Given the description of an element on the screen output the (x, y) to click on. 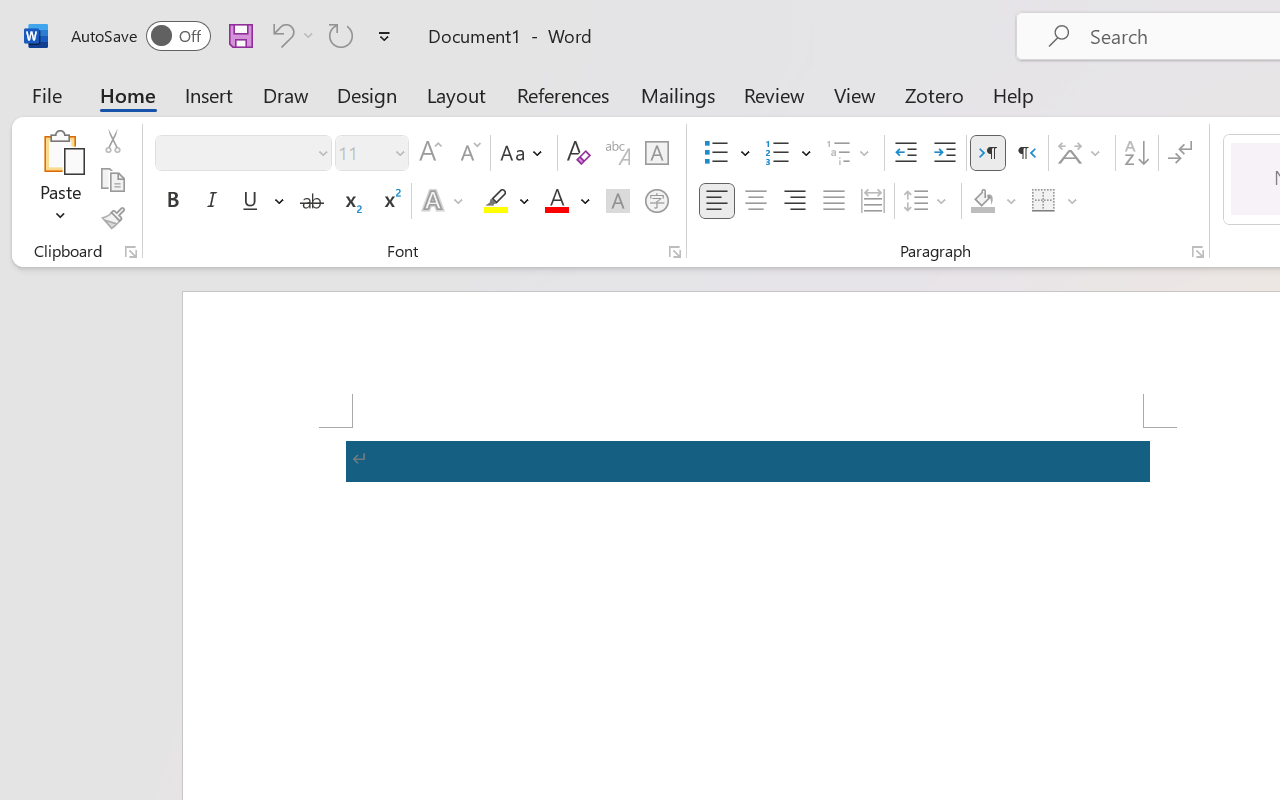
Right-to-Left (1026, 153)
